Given the description of an element on the screen output the (x, y) to click on. 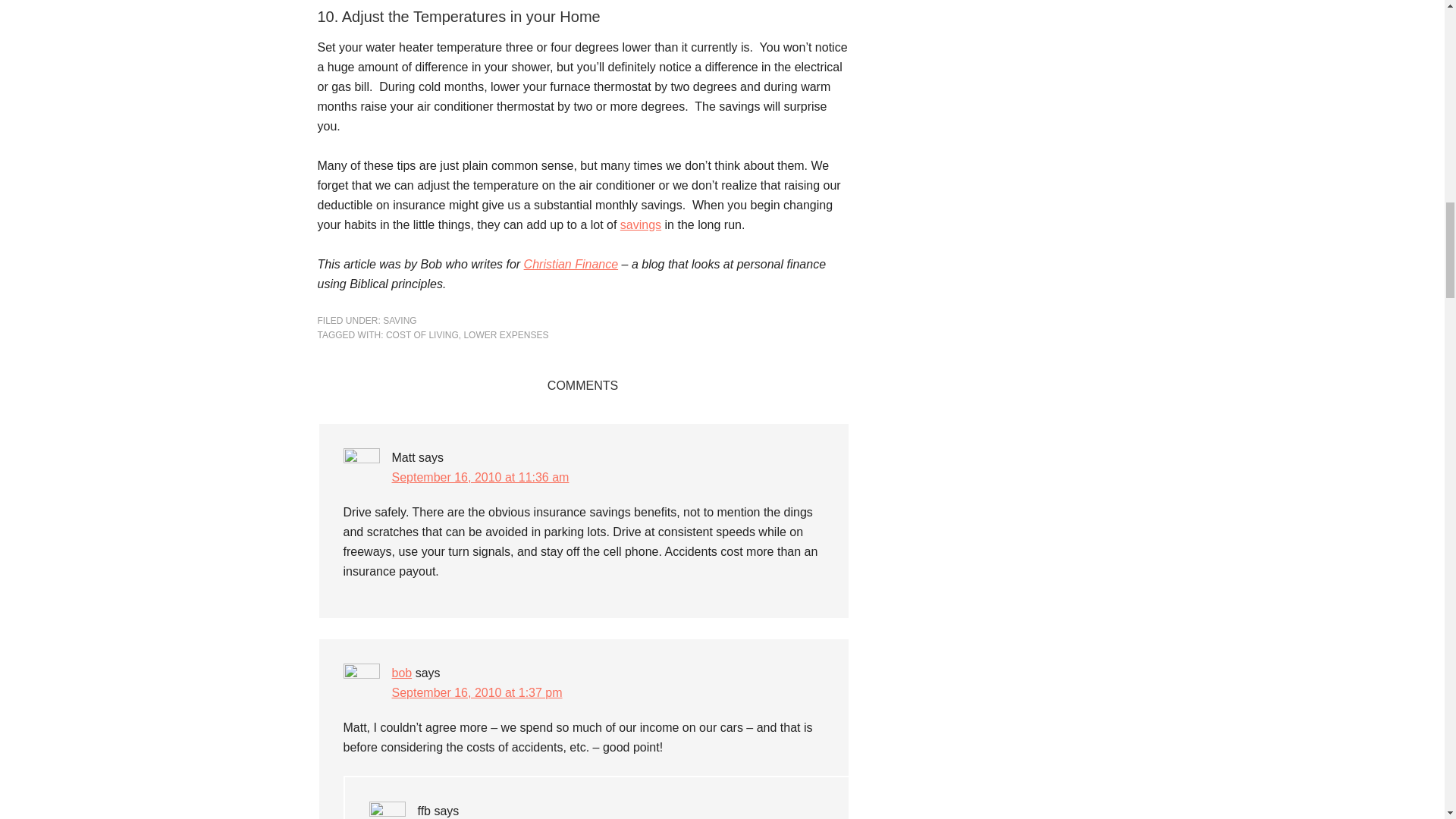
September 16, 2010 at 1:37 pm (476, 692)
Christian Finance (571, 264)
COST OF LIVING (421, 335)
LOWER EXPENSES (505, 335)
September 16, 2010 at 11:36 am (480, 477)
SAVING (399, 320)
Reasons for a high yield online savings account. (640, 224)
savings (640, 224)
bob (401, 672)
